Given the description of an element on the screen output the (x, y) to click on. 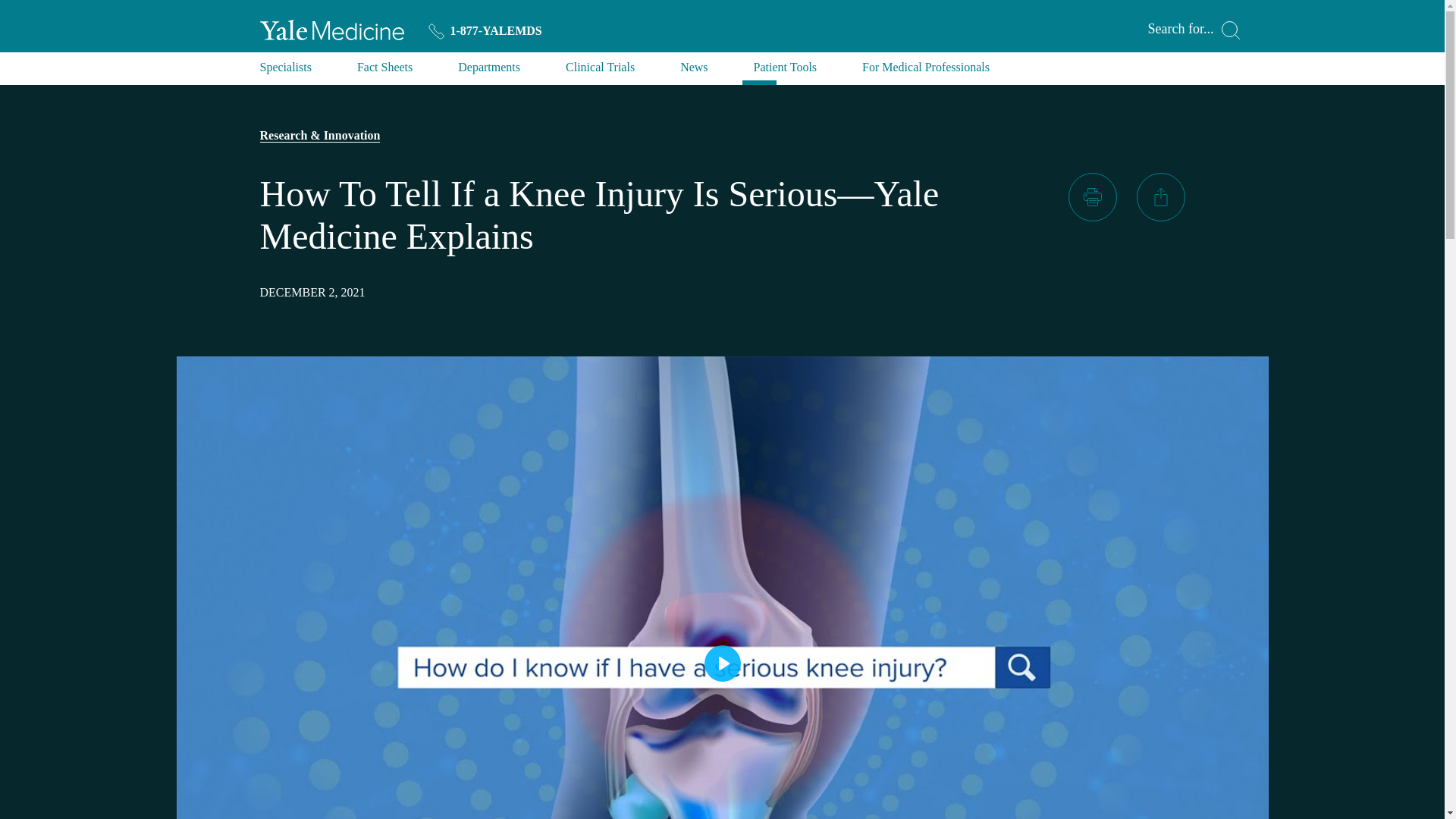
Search for (1193, 31)
1-877-YALEMDS (484, 31)
Specialists (285, 71)
Play (721, 663)
Patient Tools (785, 71)
Fact Sheets (384, 71)
For Medical Professionals (925, 71)
Departments (488, 71)
Clinical Trials (600, 71)
News (693, 71)
